Given the description of an element on the screen output the (x, y) to click on. 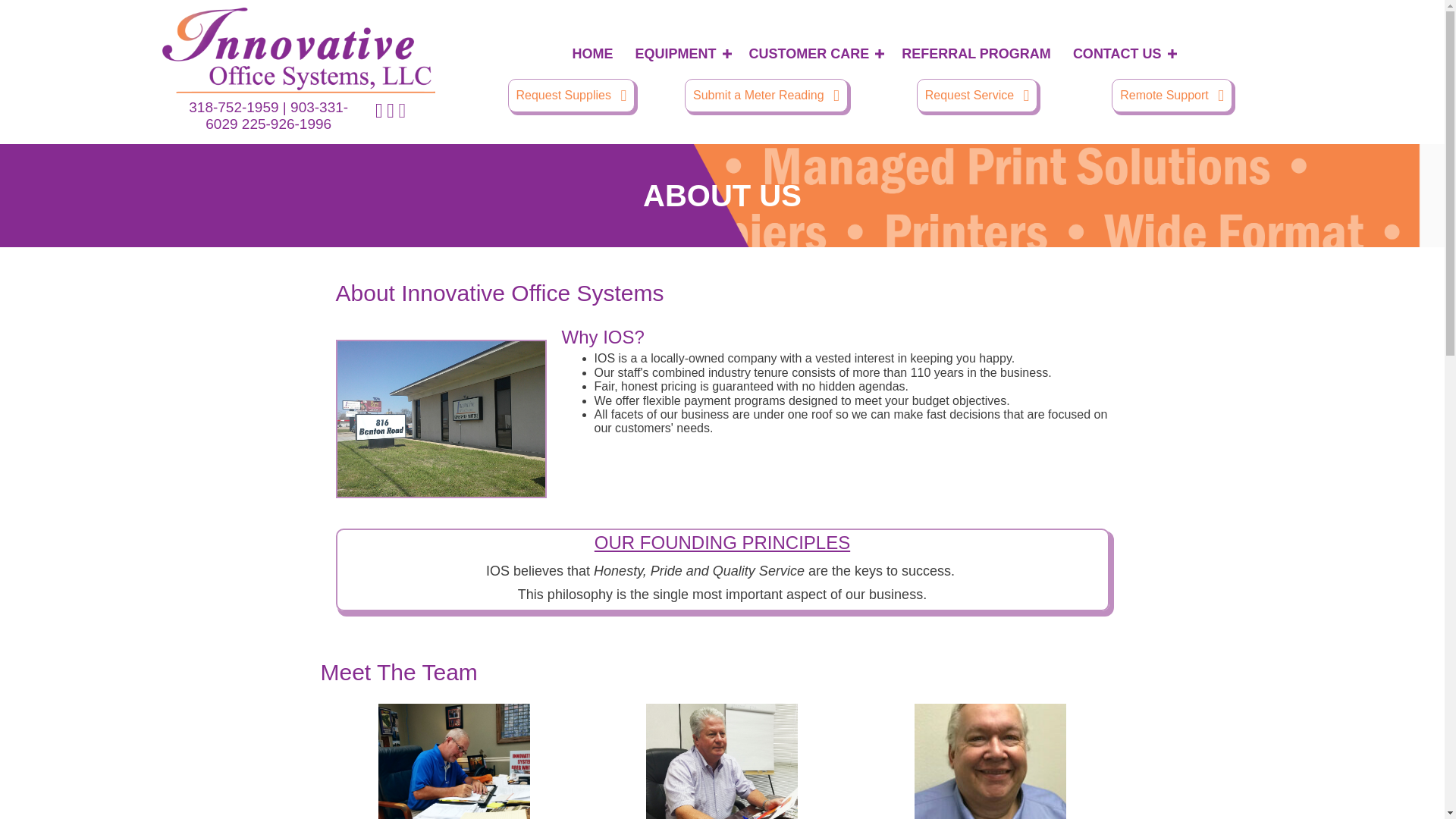
CUSTOMER CARE (814, 54)
Greg-scaled (453, 761)
Tim Harms (989, 761)
CONTACT US (1122, 54)
Walt-Bigby-scaled (721, 761)
318-752-1959 (233, 107)
903-331-6029 (276, 115)
Innovative Office Systems Bossier City Logo (298, 50)
REFERRAL PROGRAM (976, 54)
225-926-1996 (286, 123)
Innovative Office Systems Bossier City (440, 418)
EQUIPMENT (680, 54)
HOME (591, 54)
